Given the description of an element on the screen output the (x, y) to click on. 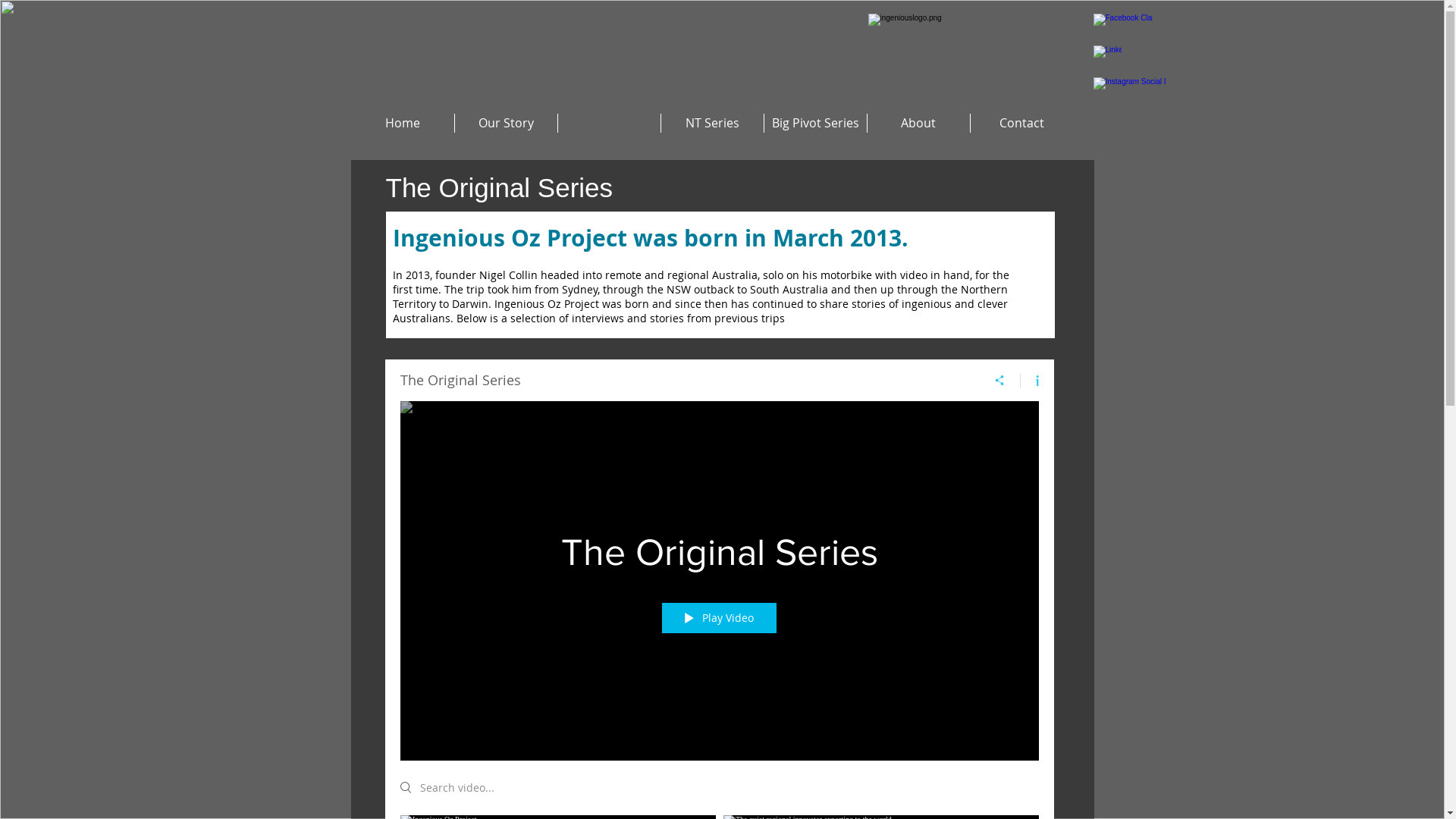
Our Story Element type: text (506, 122)
Home Element type: text (401, 122)
Big Pivot Series Element type: text (815, 122)
NT Series Element type: text (712, 122)
Contact Element type: text (1021, 122)
Play Video Element type: text (718, 617)
About Element type: text (918, 122)
First Series Element type: text (609, 122)
